Given the description of an element on the screen output the (x, y) to click on. 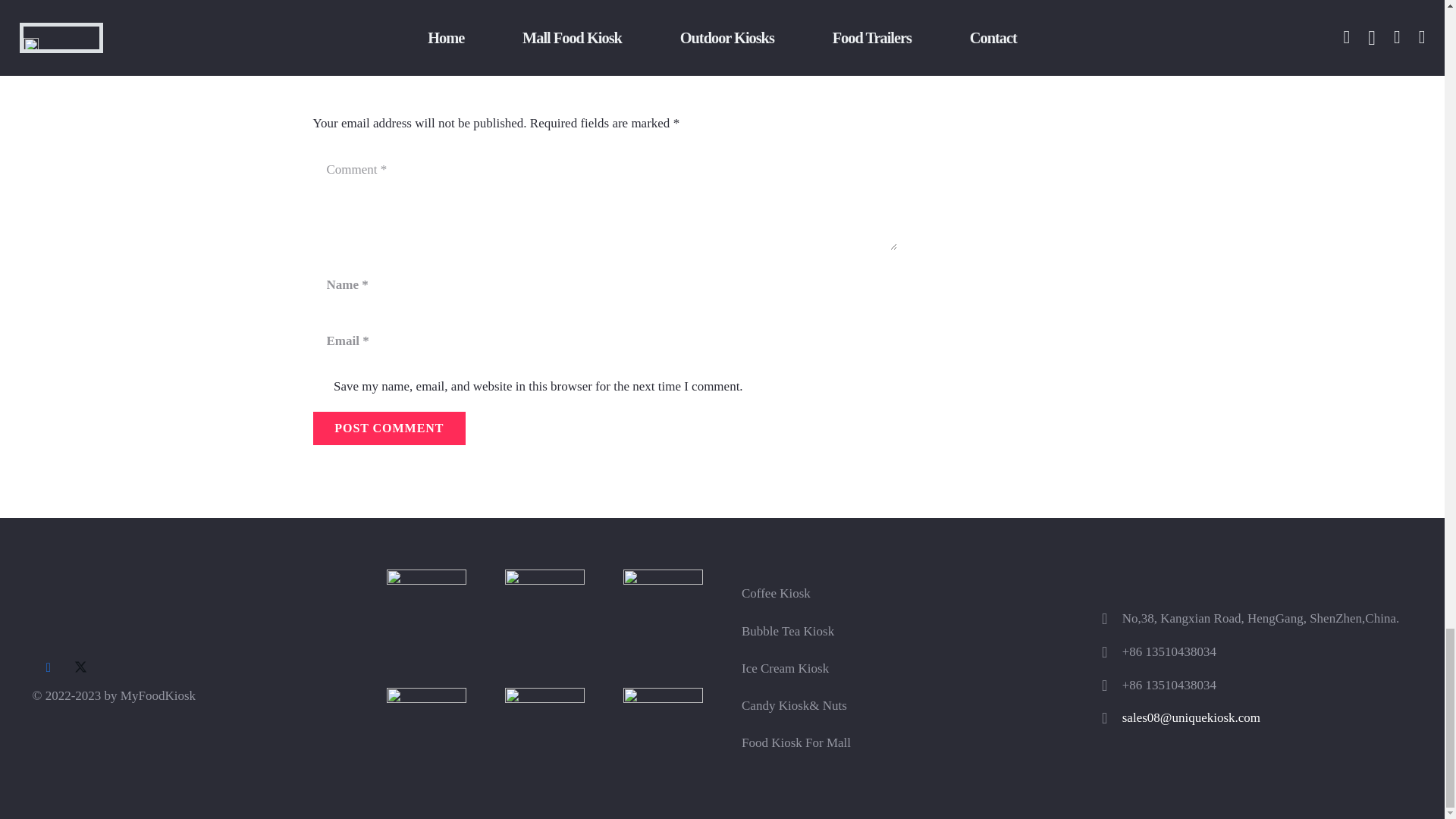
Facebook (48, 667)
1 (321, 387)
Twitter (80, 667)
